Given the description of an element on the screen output the (x, y) to click on. 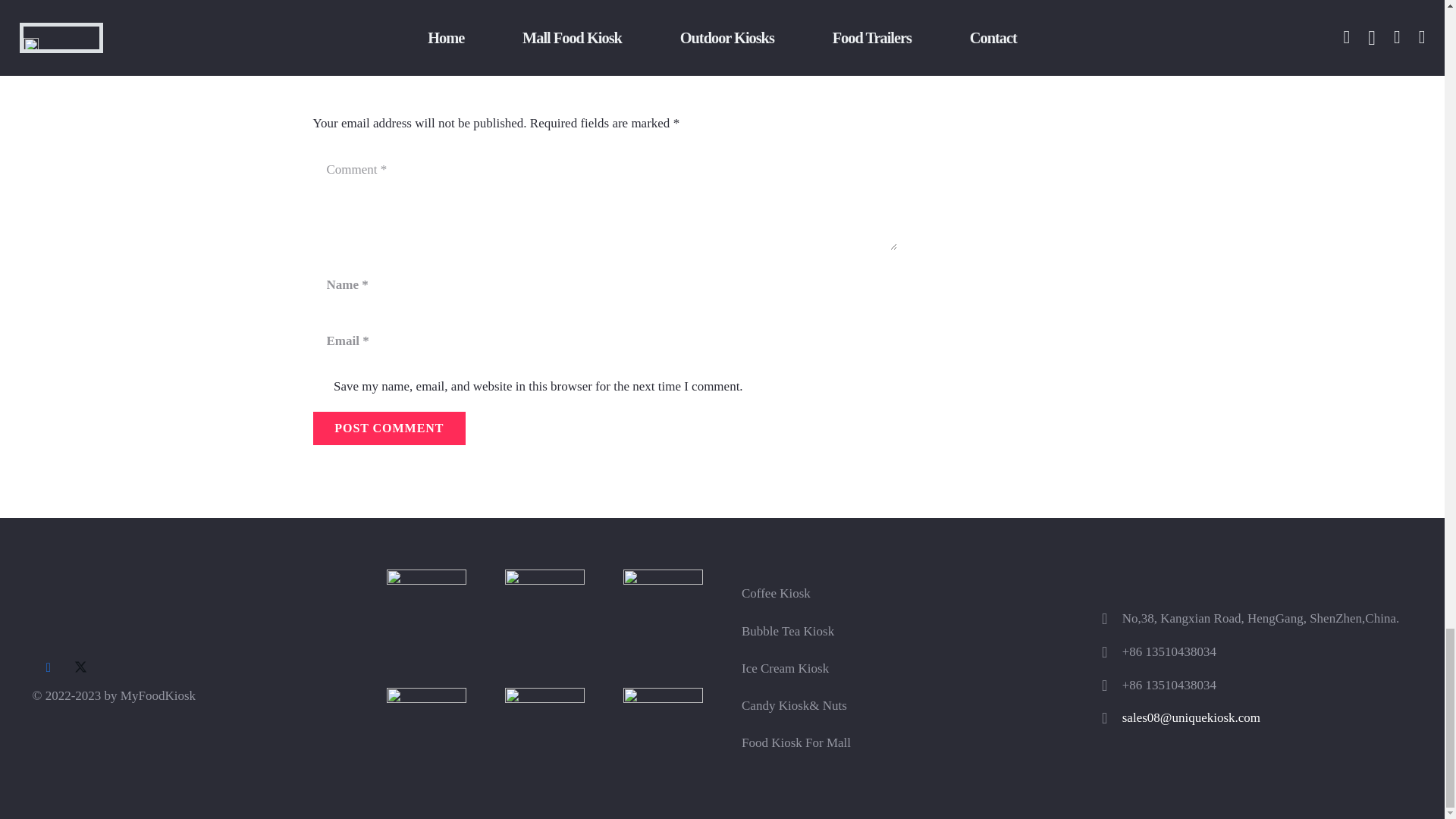
Facebook (48, 667)
1 (321, 387)
Twitter (80, 667)
